Given the description of an element on the screen output the (x, y) to click on. 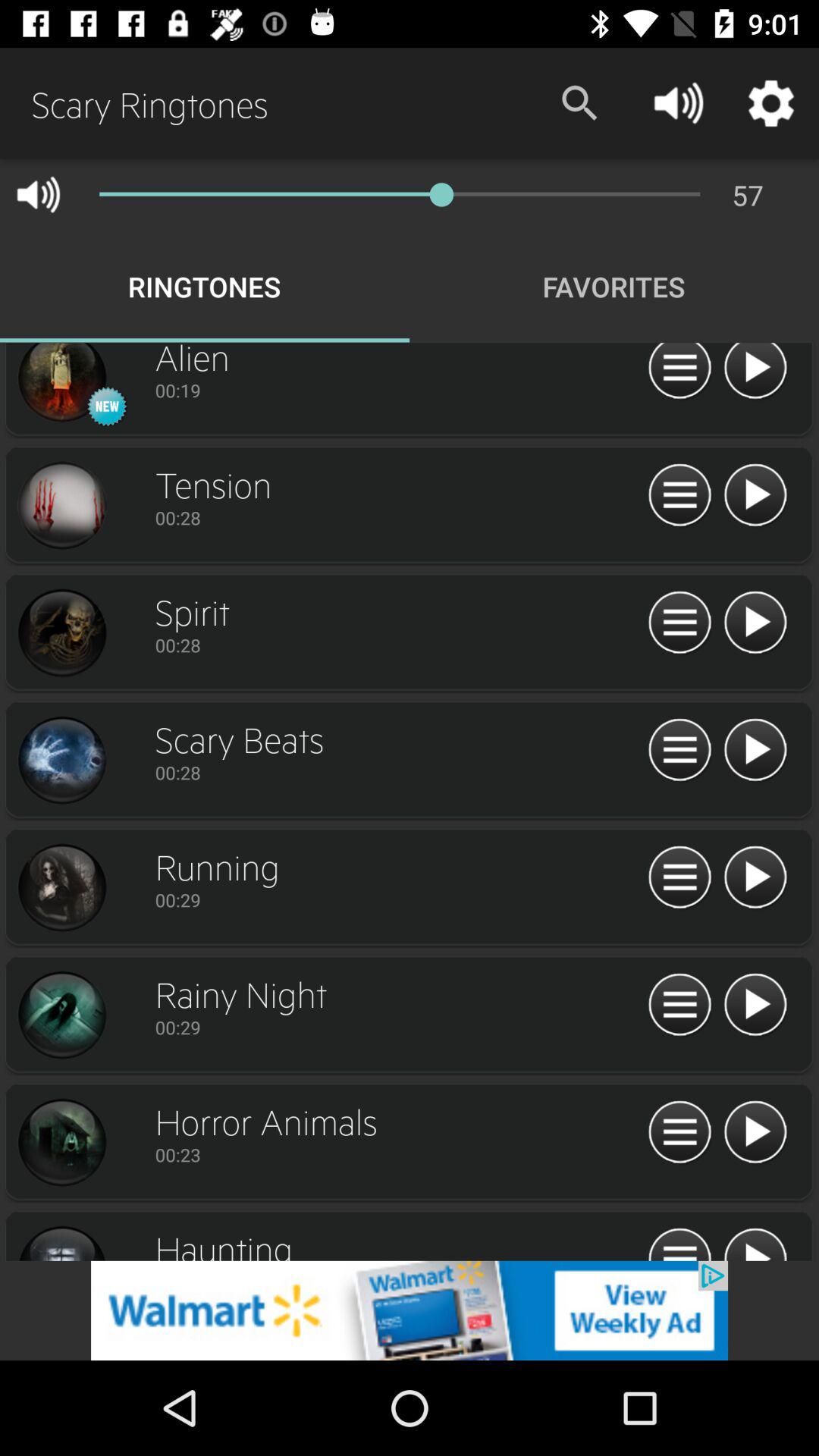
go to option button (679, 373)
